Given the description of an element on the screen output the (x, y) to click on. 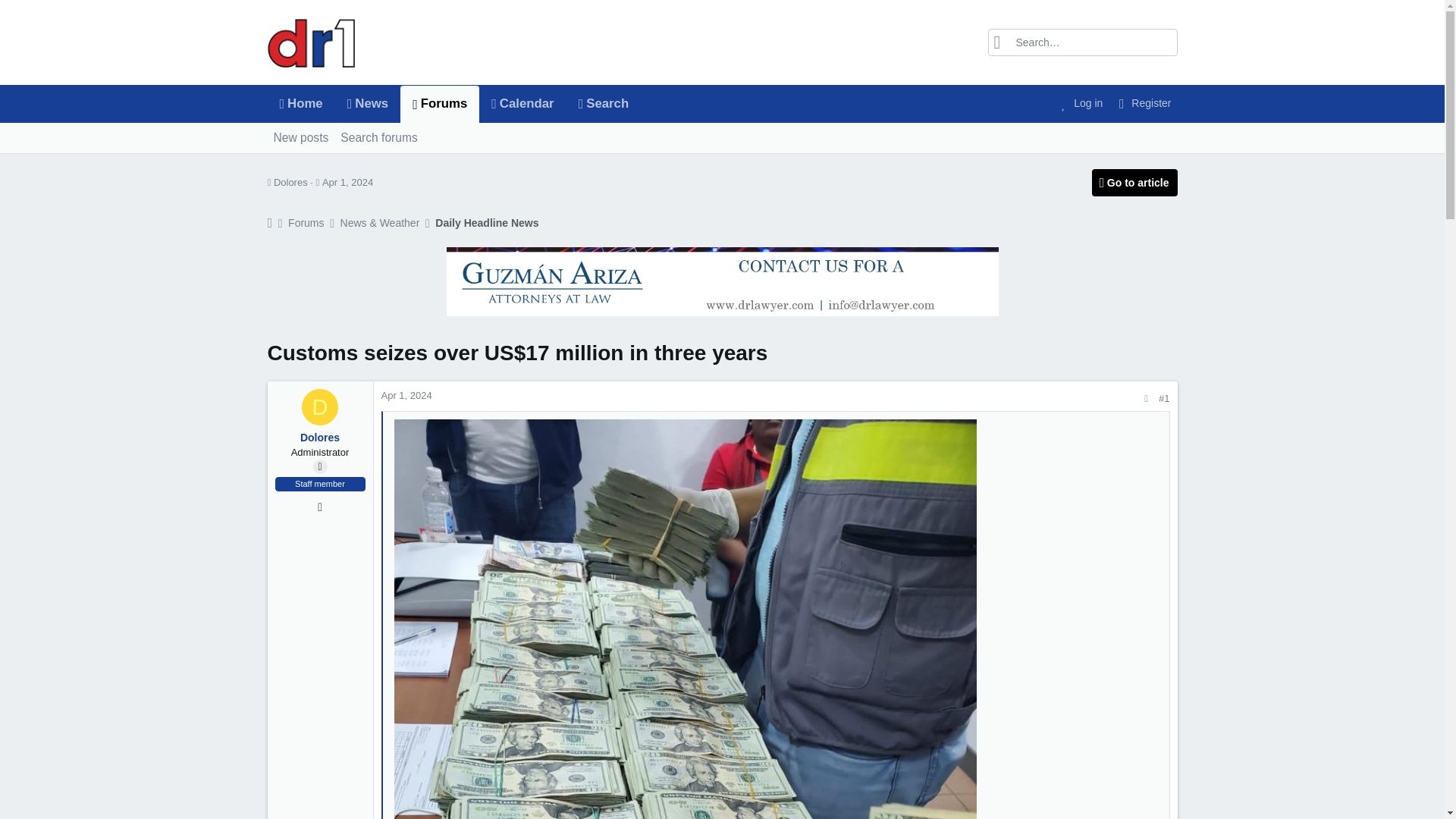
Apr 1, 2024 (453, 103)
Search forums (453, 103)
Forums (346, 182)
Dolores (378, 137)
Log in (439, 103)
Original poster (290, 182)
Start date (1079, 103)
Register (319, 466)
Apr 1, 2024 at 8:44 AM (317, 182)
Calendar (1142, 103)
Thread starter (346, 182)
News (522, 103)
